Given the description of an element on the screen output the (x, y) to click on. 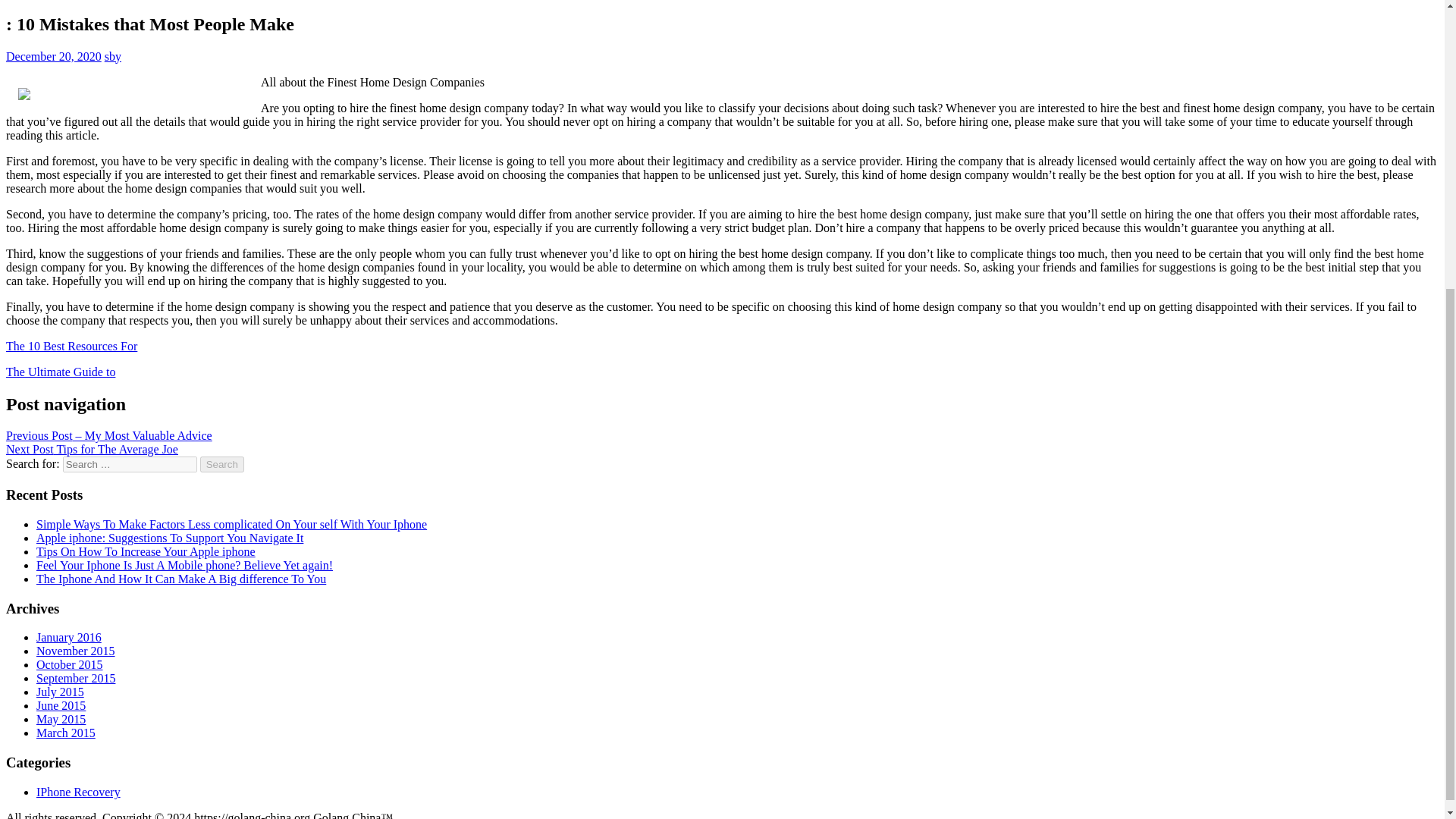
March 2015 (66, 732)
Apple iphone: Suggestions To Support You Navigate It (169, 537)
Search (222, 464)
Next Post Tips for The Average Joe (91, 449)
Search (222, 464)
May 2015 (60, 718)
The Iphone And How It Can Make A Big difference To You (181, 578)
Search (222, 464)
Feel Your Iphone Is Just A Mobile phone? Believe Yet again! (184, 564)
September 2015 (75, 677)
